Given the description of an element on the screen output the (x, y) to click on. 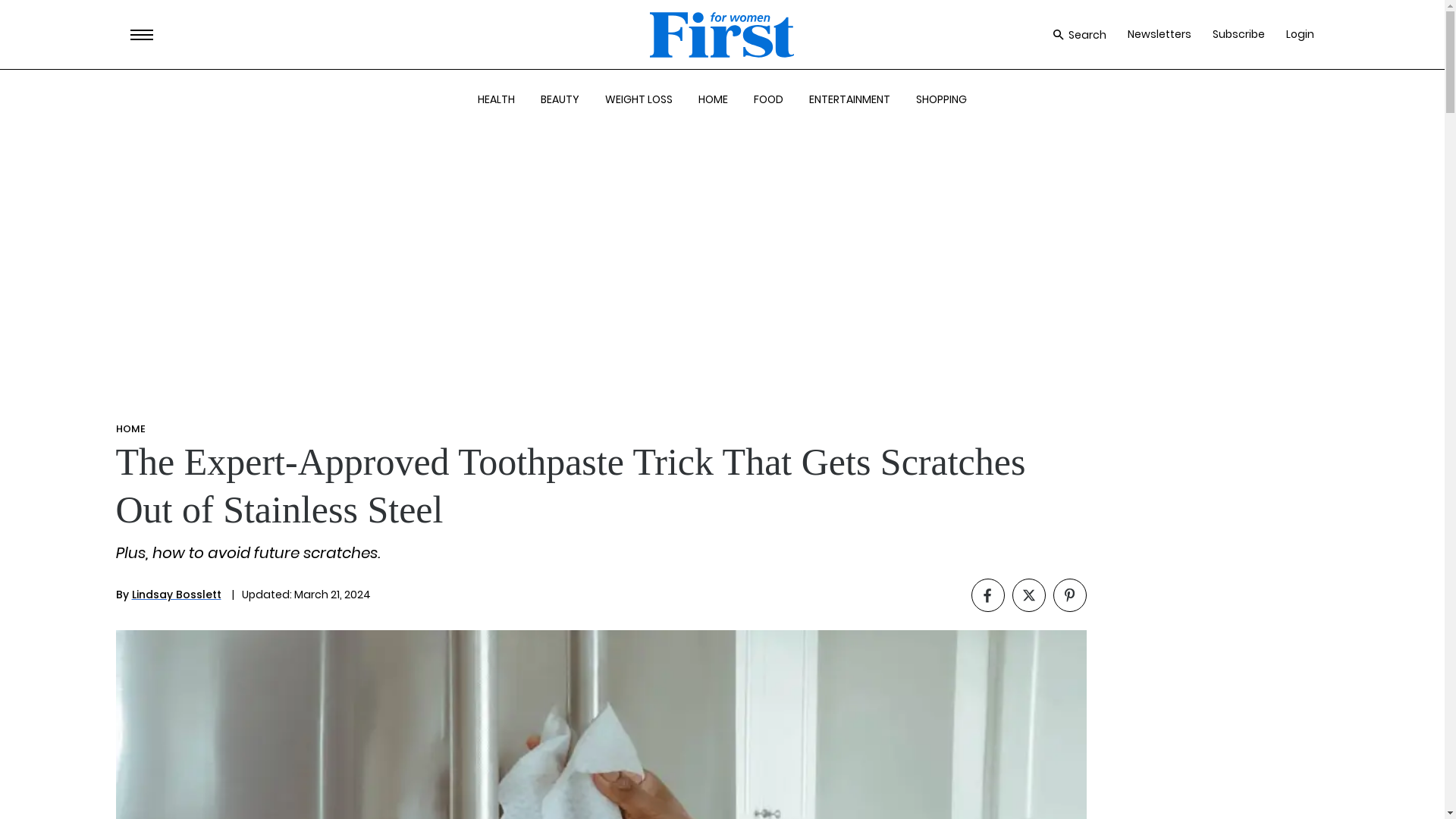
Click to share on Twitter (1028, 594)
Click to share on Pinterest (1069, 594)
Click to share on Facebook (987, 594)
